Given the description of an element on the screen output the (x, y) to click on. 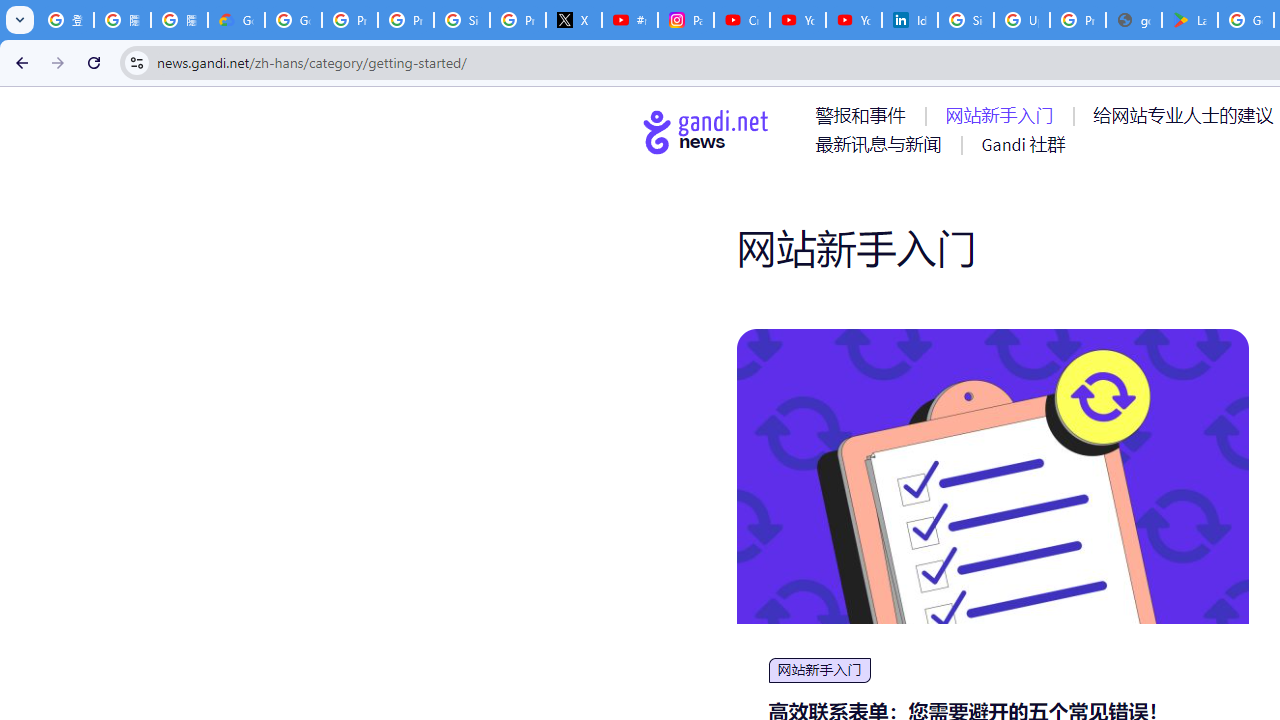
Privacy Help Center - Policies Help (349, 20)
Last Shelter: Survival - Apps on Google Play (1190, 20)
AutomationID: menu-item-77767 (1022, 143)
